Given the description of an element on the screen output the (x, y) to click on. 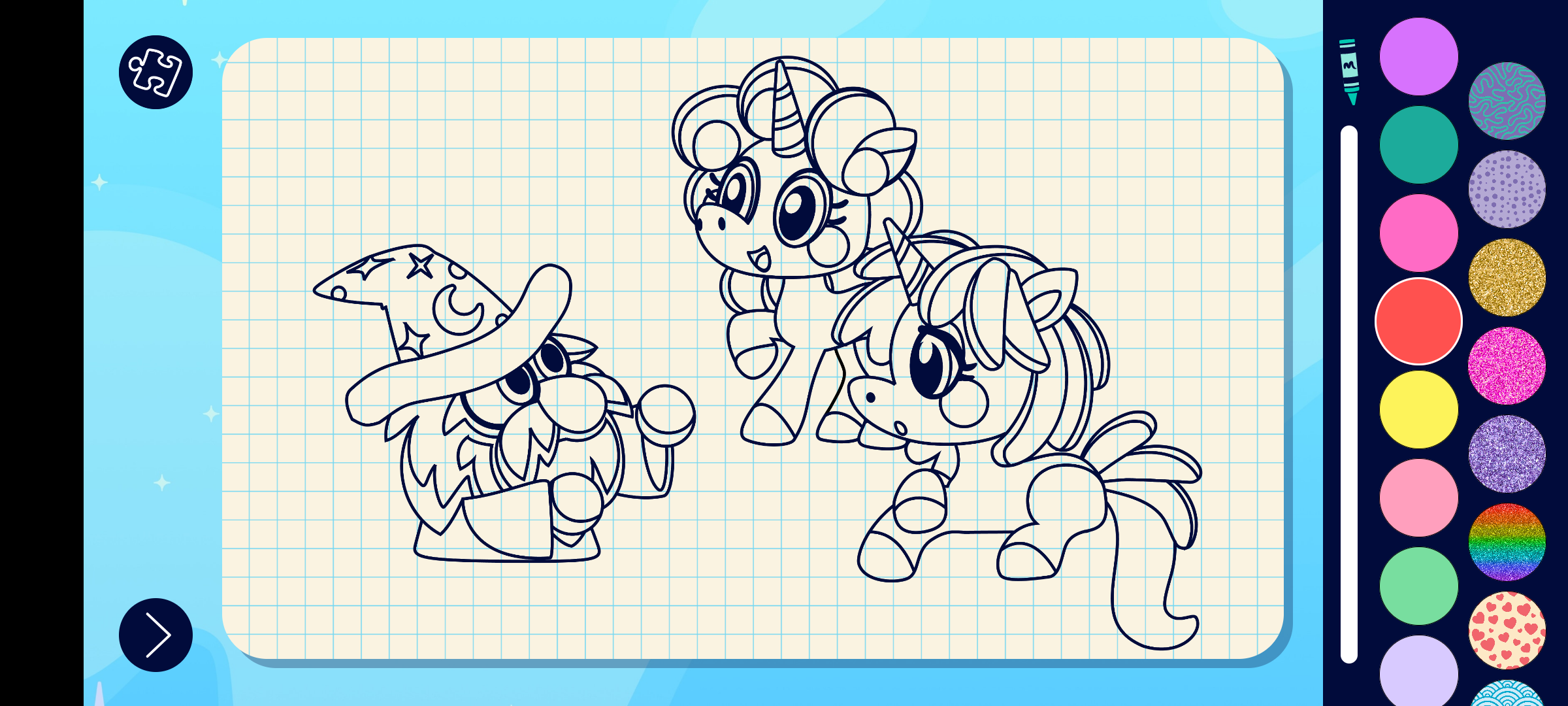
coloring background (1507, 101)
coloring background (1507, 189)
coloring background (1507, 277)
coloring background (1507, 365)
coloring background (1507, 454)
coloring background (1507, 542)
coloring background (1507, 630)
